Given the description of an element on the screen output the (x, y) to click on. 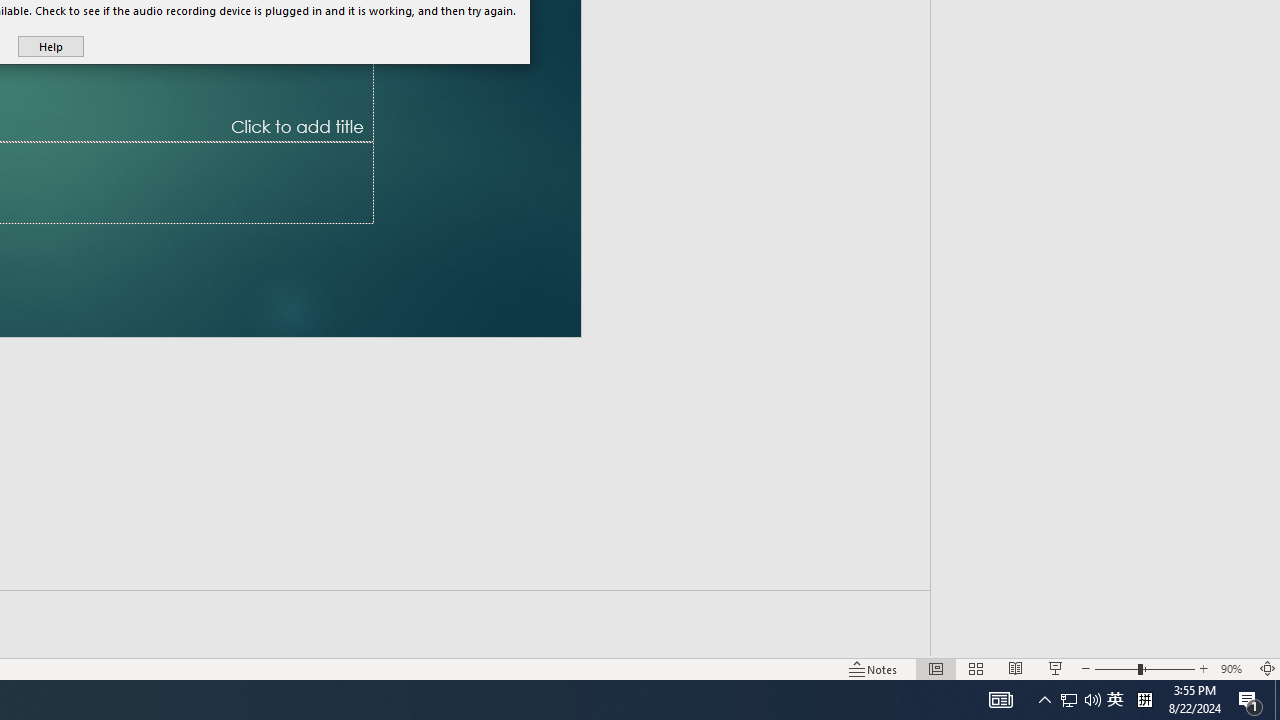
Action Center, 1 new notification (1250, 699)
Zoom 90% (1234, 668)
